Given the description of an element on the screen output the (x, y) to click on. 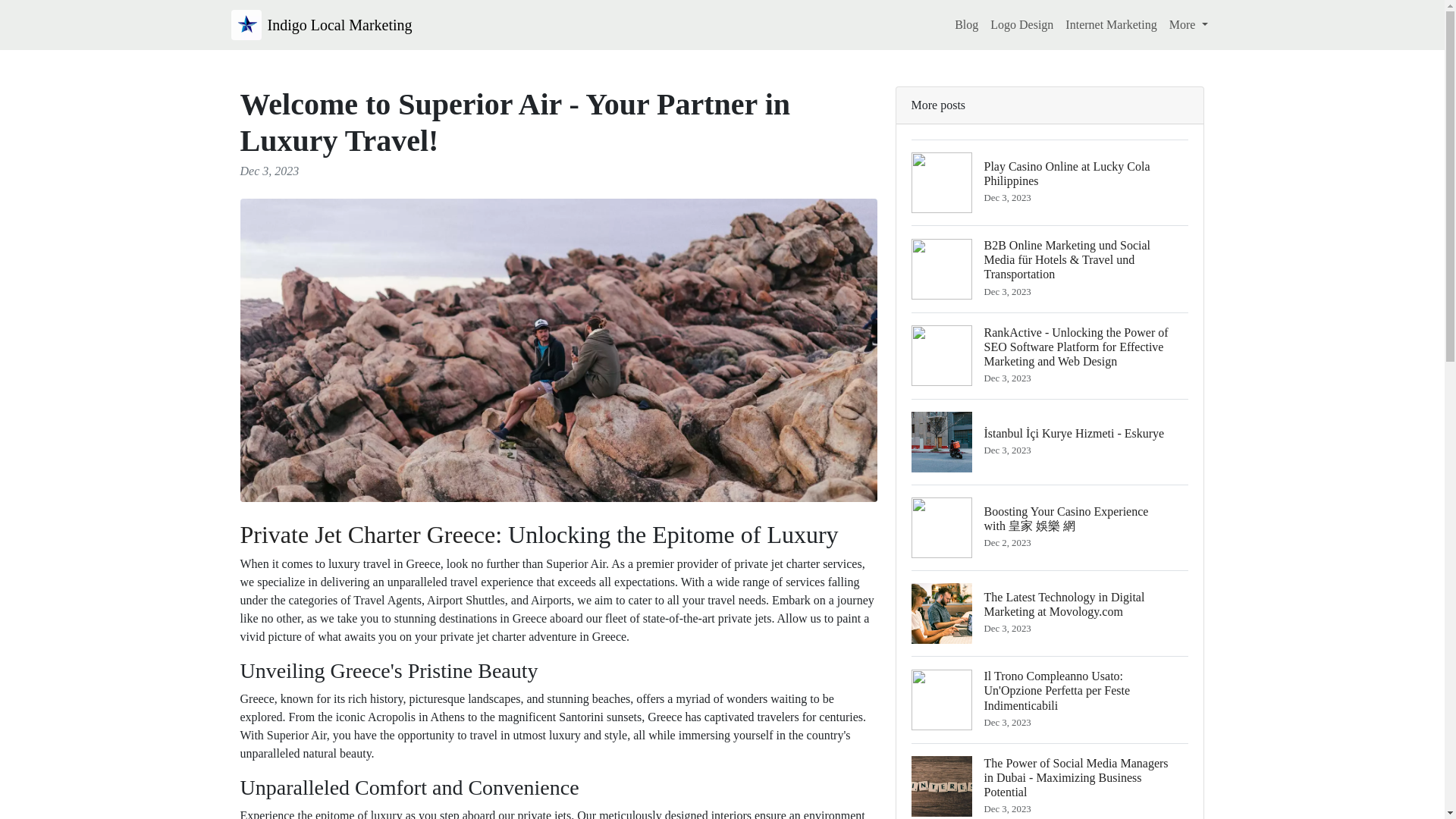
Private Jet Charter Greece (367, 533)
Logo Design (1021, 24)
Indigo Local Marketing (321, 24)
More (1188, 24)
Internet Marketing (1110, 24)
Blog (1050, 182)
